Given the description of an element on the screen output the (x, y) to click on. 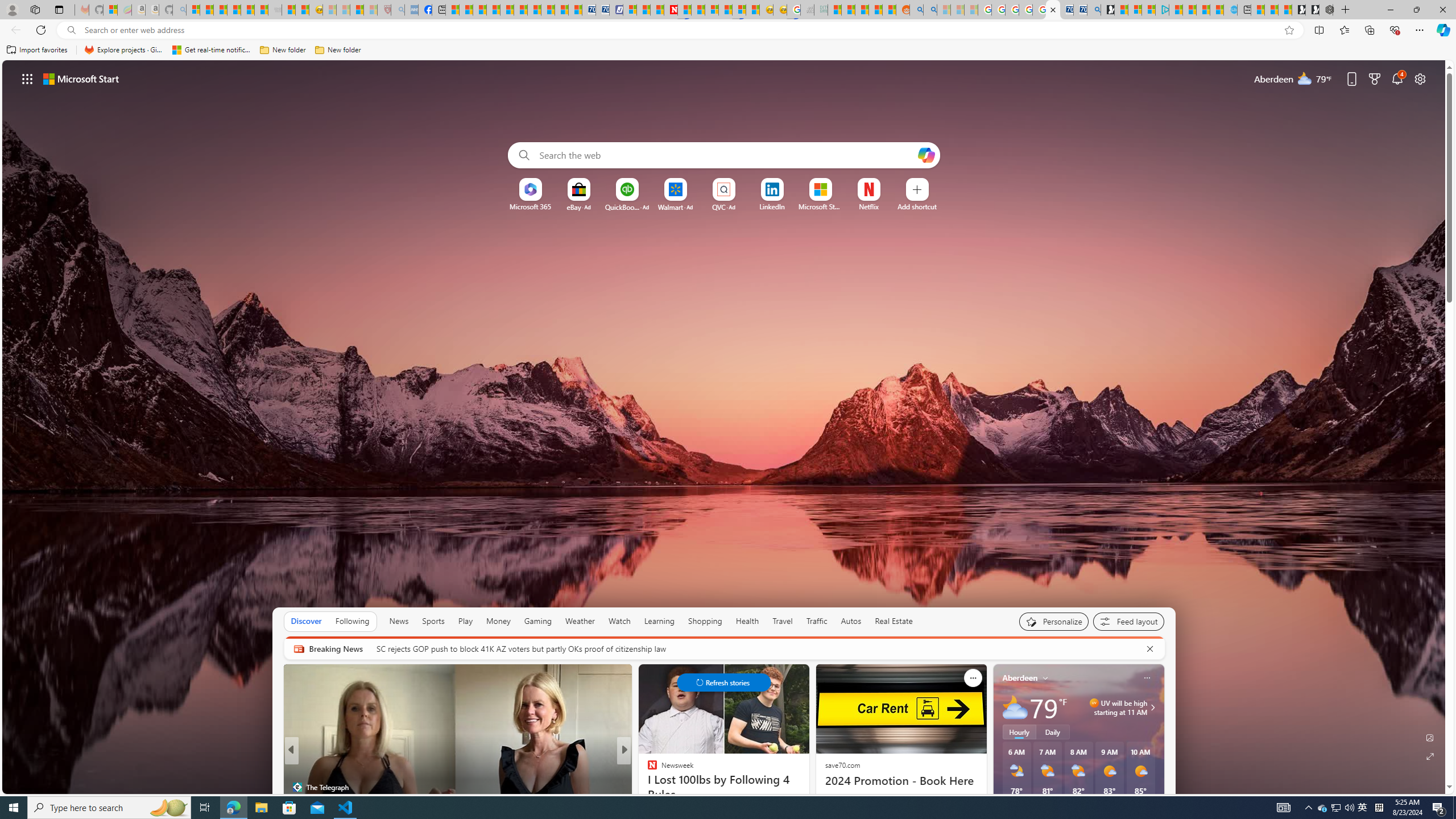
AutomationID: backgroundImagePicture (723, 426)
Mostly cloudy (1014, 707)
DITOGAMES AG Imprint - Sleeping (820, 9)
Travel (782, 621)
list of asthma inhalers uk - Search - Sleeping (397, 9)
New folder (337, 49)
Learning (659, 621)
Gaming (537, 621)
